Given the description of an element on the screen output the (x, y) to click on. 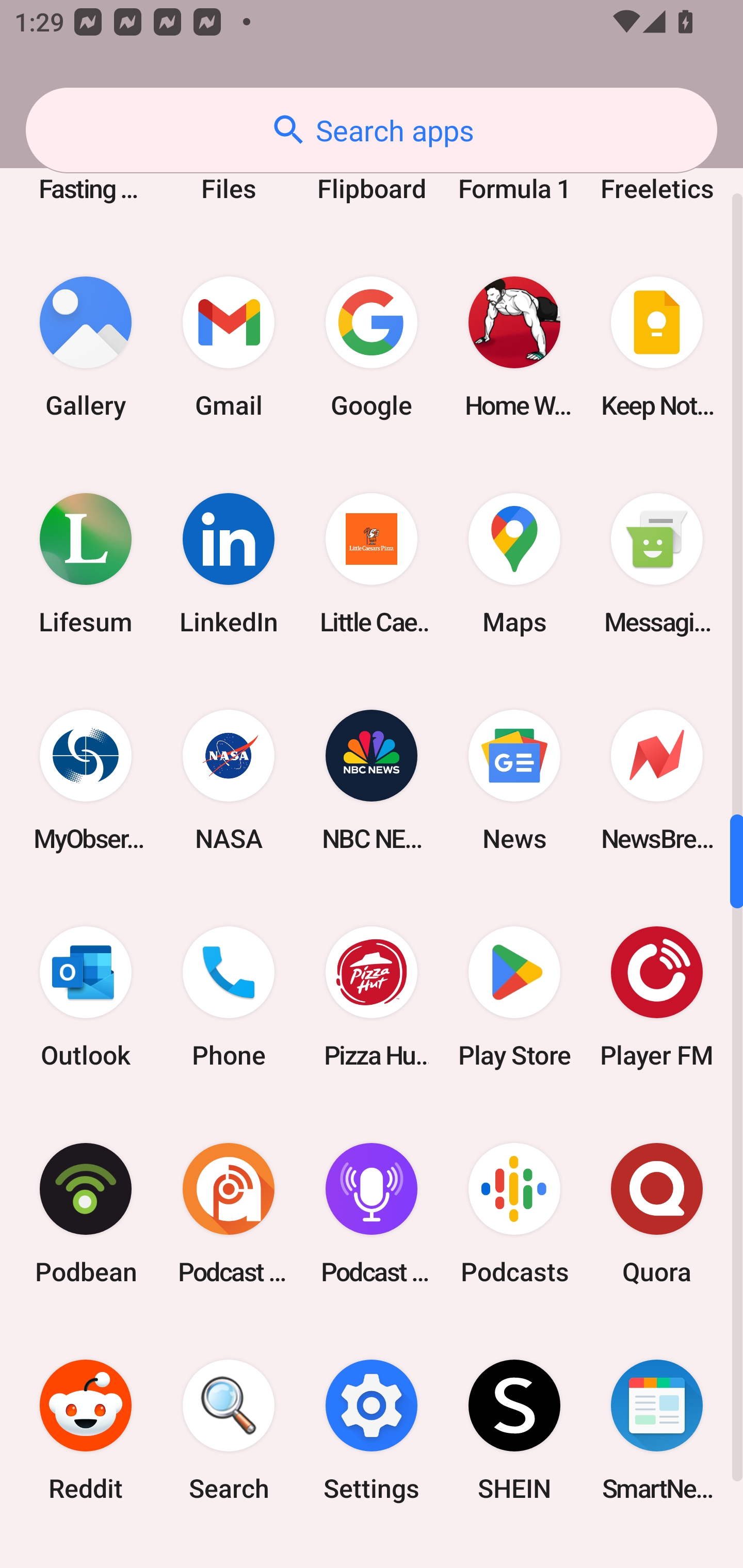
  Search apps (371, 130)
Gallery (85, 346)
Gmail (228, 346)
Google (371, 346)
Home Workout (514, 346)
Keep Notes (656, 346)
Lifesum (85, 563)
LinkedIn (228, 563)
Little Caesars Pizza (371, 563)
Maps (514, 563)
Messaging (656, 563)
MyObservatory (85, 780)
NASA (228, 780)
NBC NEWS (371, 780)
News (514, 780)
NewsBreak (656, 780)
Outlook (85, 997)
Phone (228, 997)
Pizza Hut HK & Macau (371, 997)
Play Store (514, 997)
Player FM (656, 997)
Podbean (85, 1213)
Podcast Addict (228, 1213)
Podcast Player (371, 1213)
Podcasts (514, 1213)
Quora (656, 1213)
Reddit (85, 1429)
Search (228, 1429)
Settings (371, 1429)
SHEIN (514, 1429)
SmartNews (656, 1429)
